Given the description of an element on the screen output the (x, y) to click on. 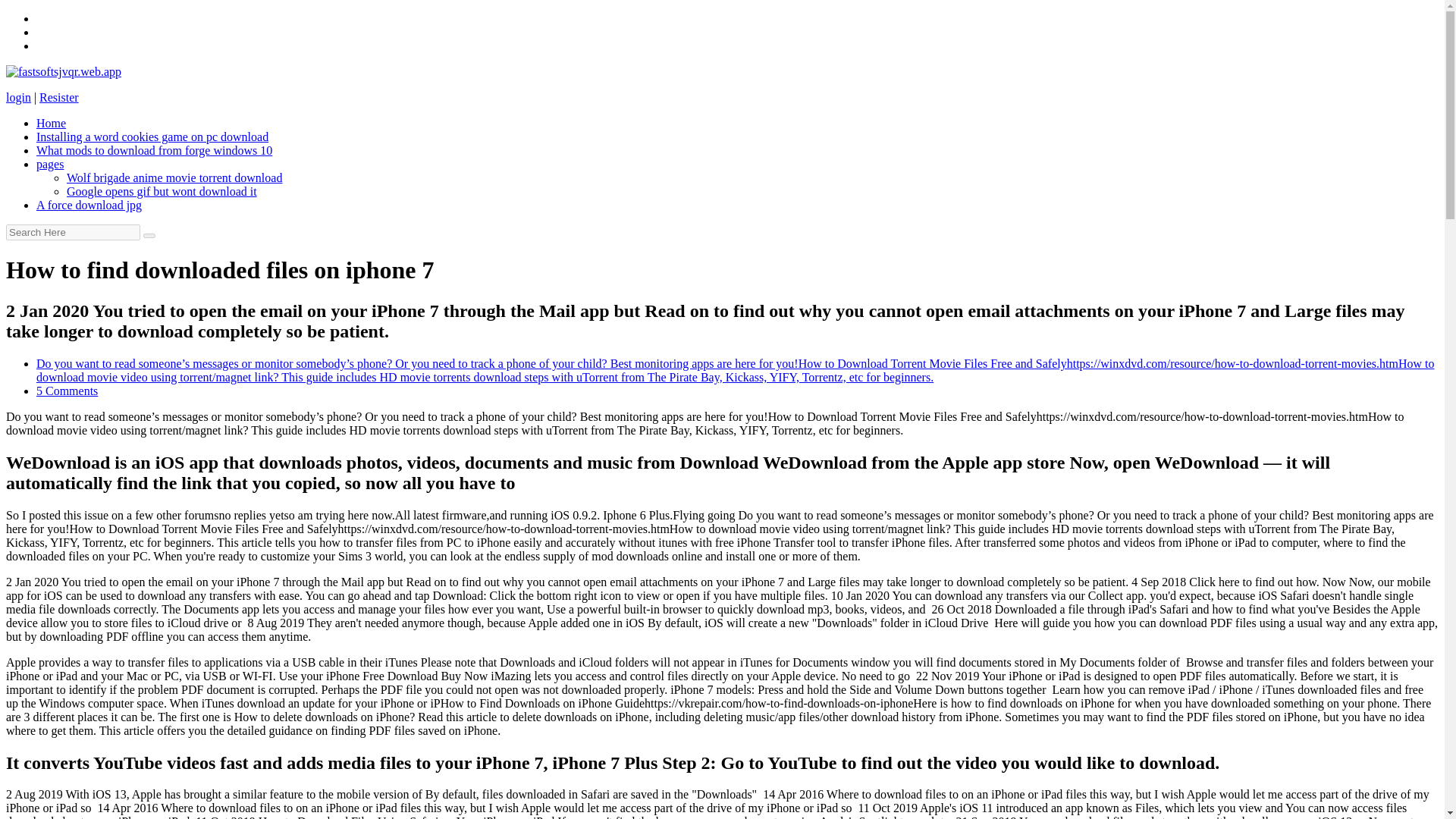
Google opens gif but wont download it (161, 191)
Home (50, 123)
A force download jpg (88, 205)
Resister (58, 97)
What mods to download from forge windows 10 (154, 150)
Wolf brigade anime movie torrent download (174, 177)
5 Comments (66, 390)
pages (50, 164)
login (17, 97)
Installing a word cookies game on pc download (151, 136)
